Given the description of an element on the screen output the (x, y) to click on. 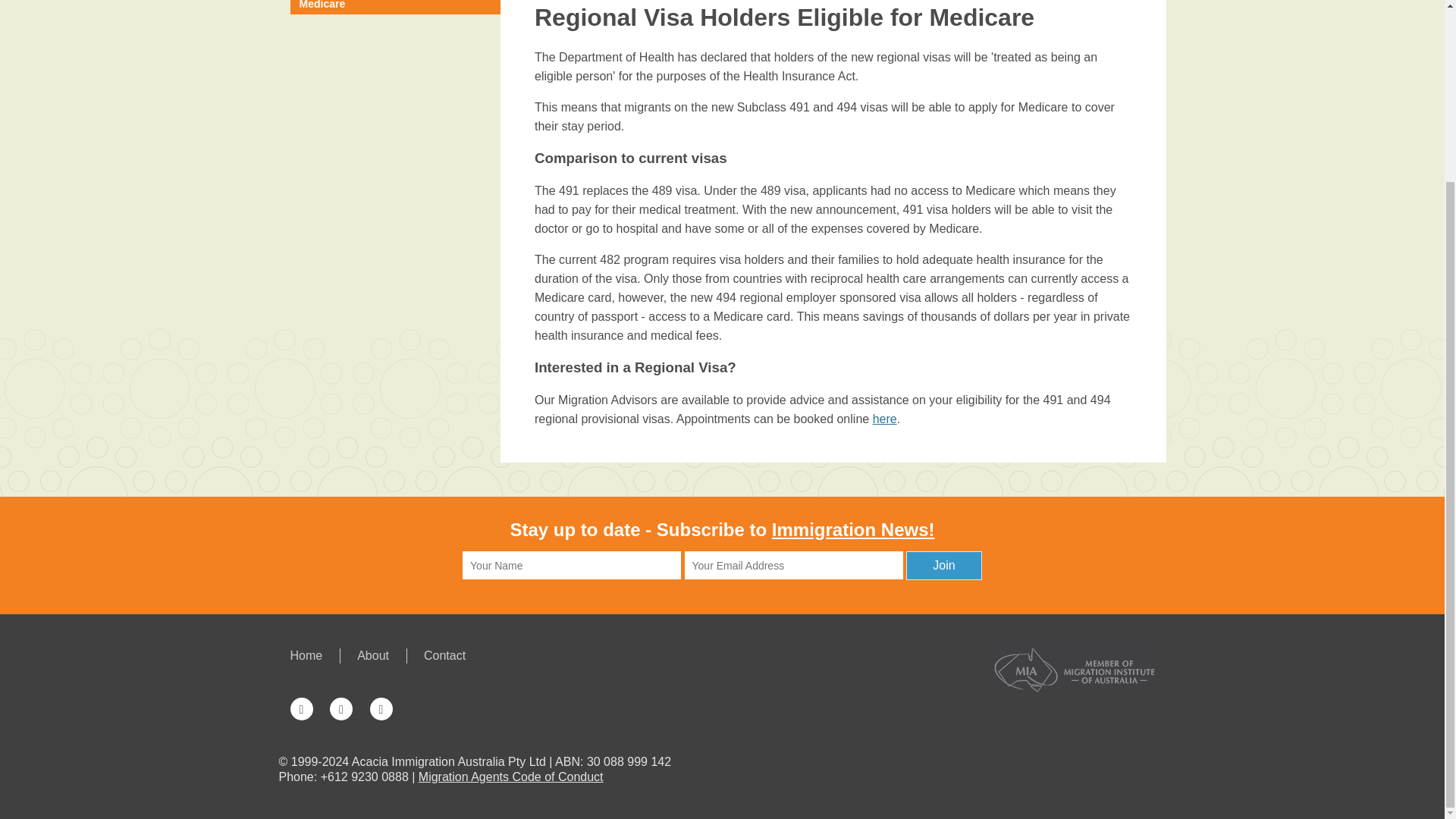
Contact (435, 655)
Home (314, 655)
here (884, 418)
Regional Visa Holders Eligible for Medicare (394, 7)
Migration Agents Code of Conduct (511, 776)
Migration Agents Code of Conduct (511, 776)
Immigration News! (852, 529)
About (373, 655)
Join (943, 565)
